Given the description of an element on the screen output the (x, y) to click on. 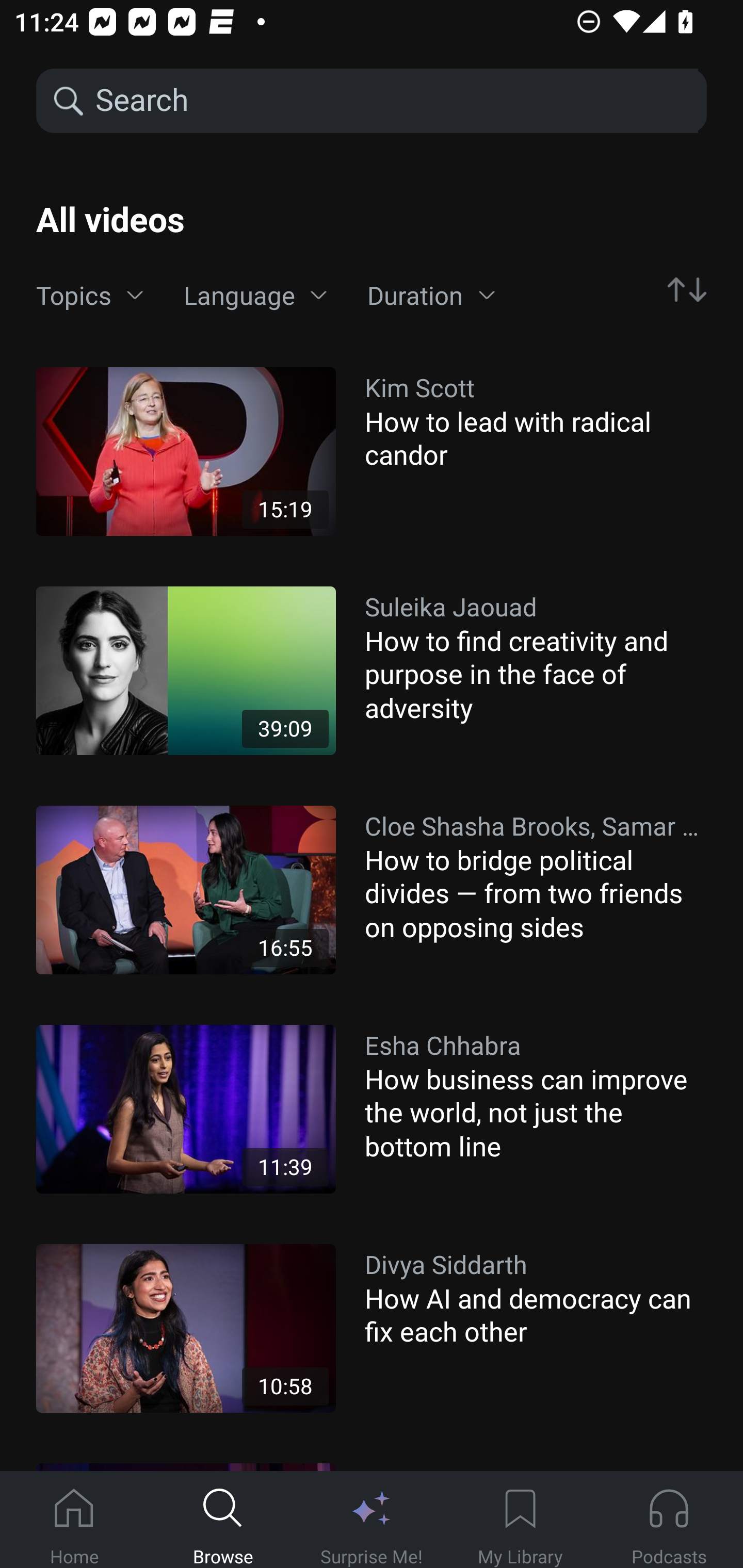
Search (395, 100)
Topics (90, 295)
Language (255, 295)
Duration (431, 295)
15:19 Kim Scott How to lead with radical candor (371, 451)
Home (74, 1520)
Browse (222, 1520)
Surprise Me! (371, 1520)
My Library (519, 1520)
Podcasts (668, 1520)
